Given the description of an element on the screen output the (x, y) to click on. 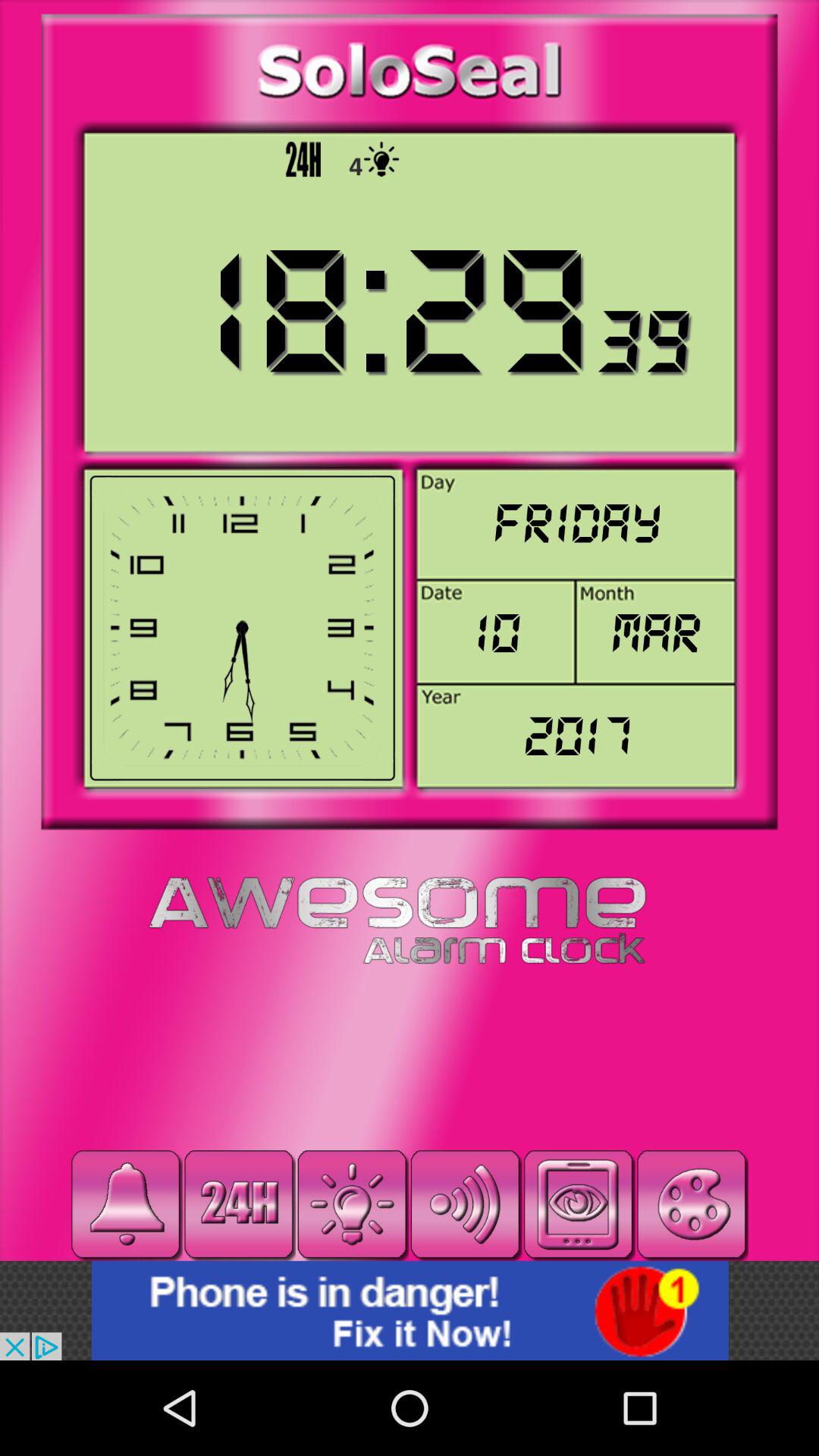
go to time format (238, 1203)
